Given the description of an element on the screen output the (x, y) to click on. 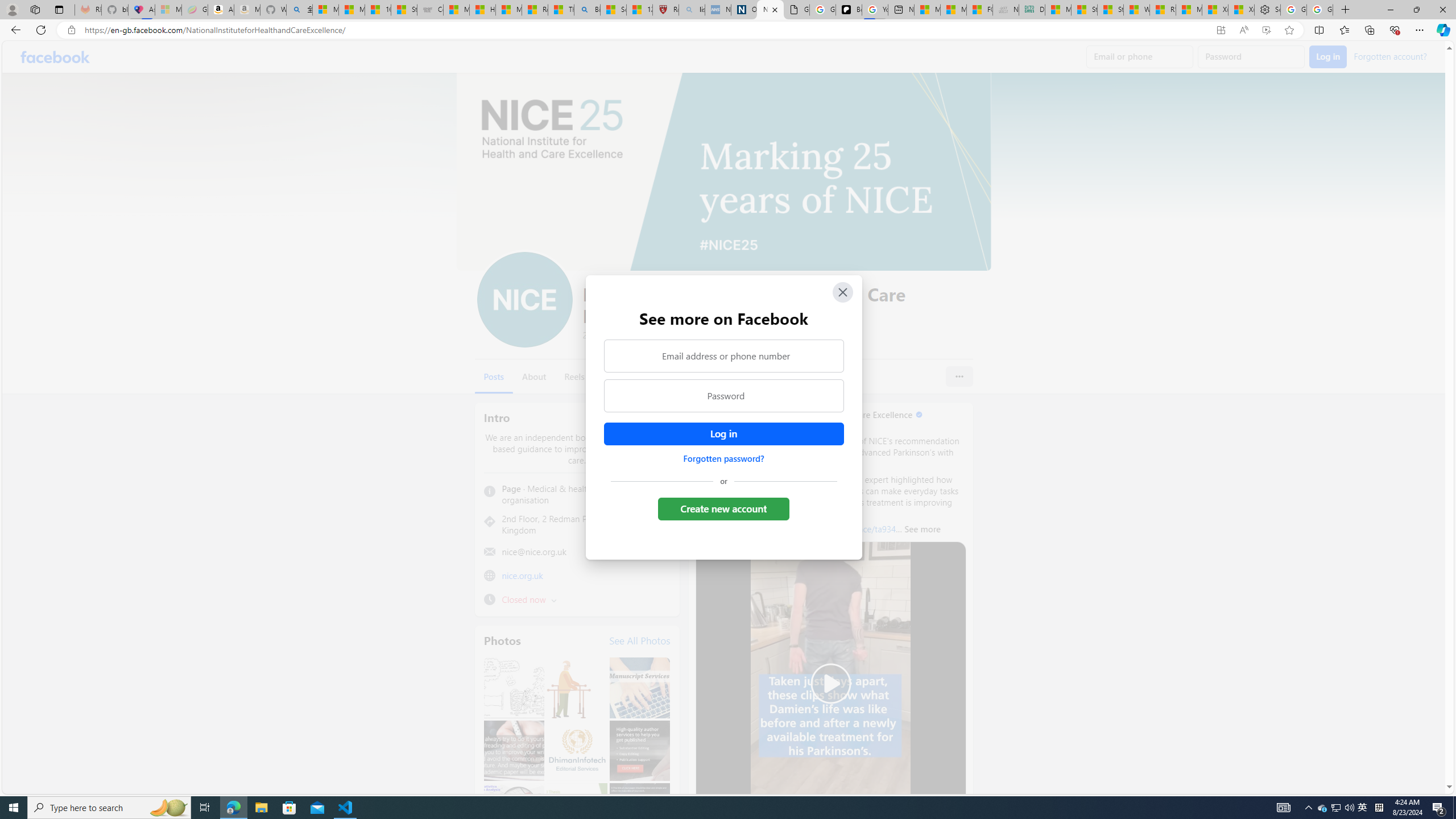
R******* | Trusted Community Engagement and Contributions (1162, 9)
Email or phone (1139, 56)
